Given the description of an element on the screen output the (x, y) to click on. 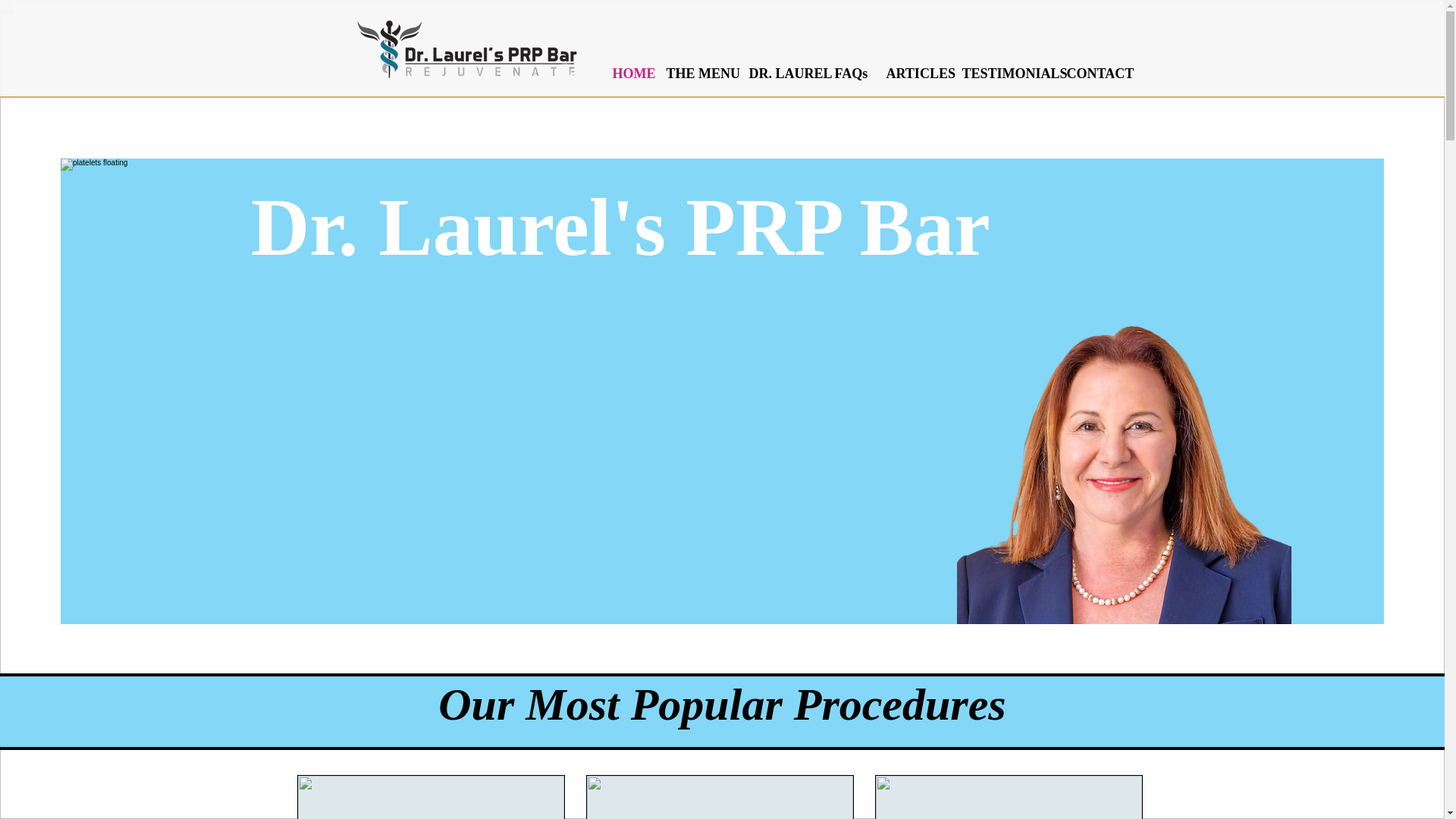
TESTIMONIALS (1005, 72)
THE MENU (699, 72)
CONTACT (1098, 72)
FAQs (852, 72)
ARTICLES (915, 72)
DR. LAUREL (784, 72)
HOME (632, 72)
